Given the description of an element on the screen output the (x, y) to click on. 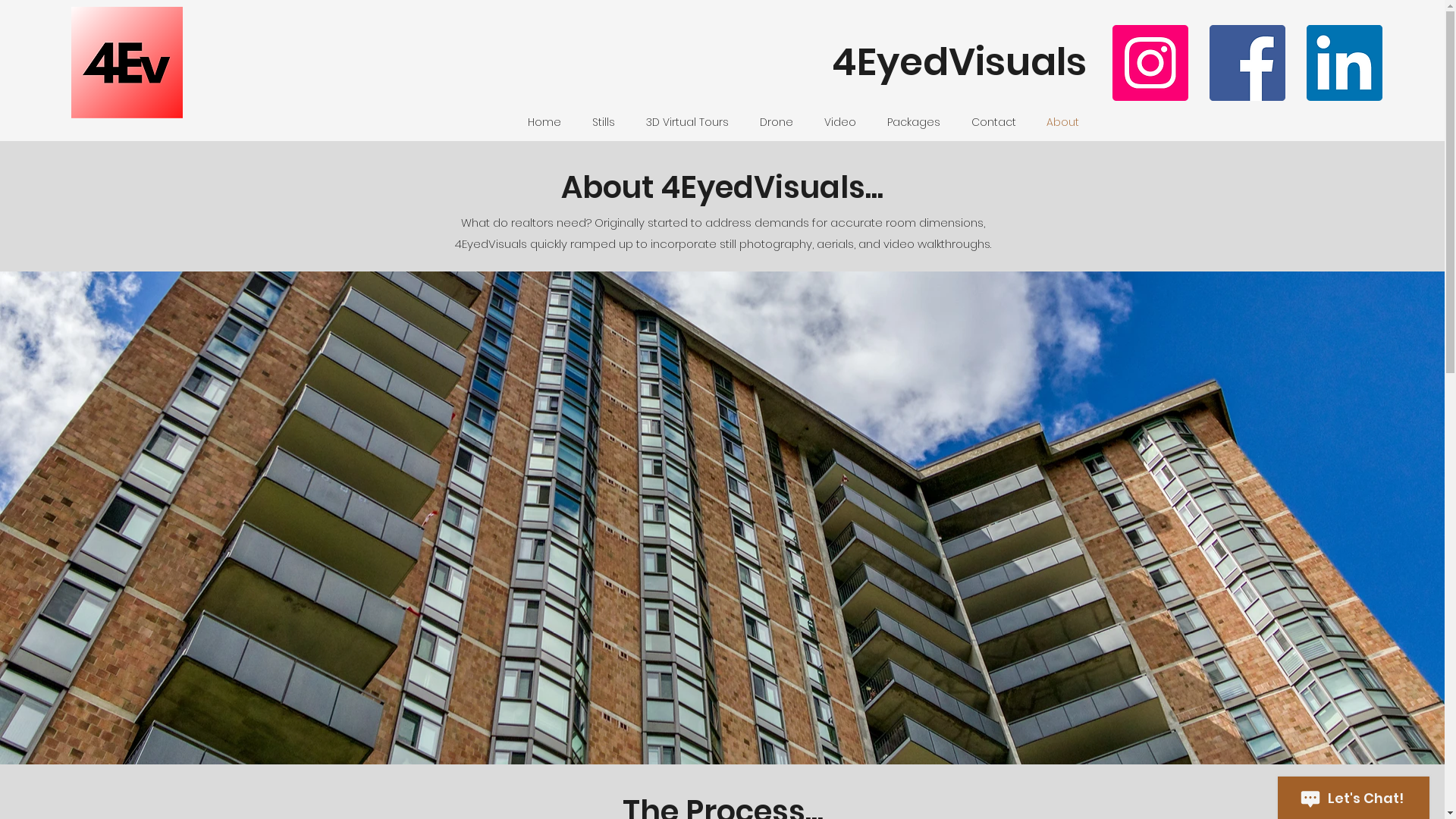
Video Element type: text (839, 122)
Packages Element type: text (914, 122)
Stills Element type: text (603, 122)
Drone Element type: text (776, 122)
Home Element type: text (544, 122)
About Element type: text (1062, 122)
Contact Element type: text (992, 122)
3D Virtual Tours Element type: text (687, 122)
